Given the description of an element on the screen output the (x, y) to click on. 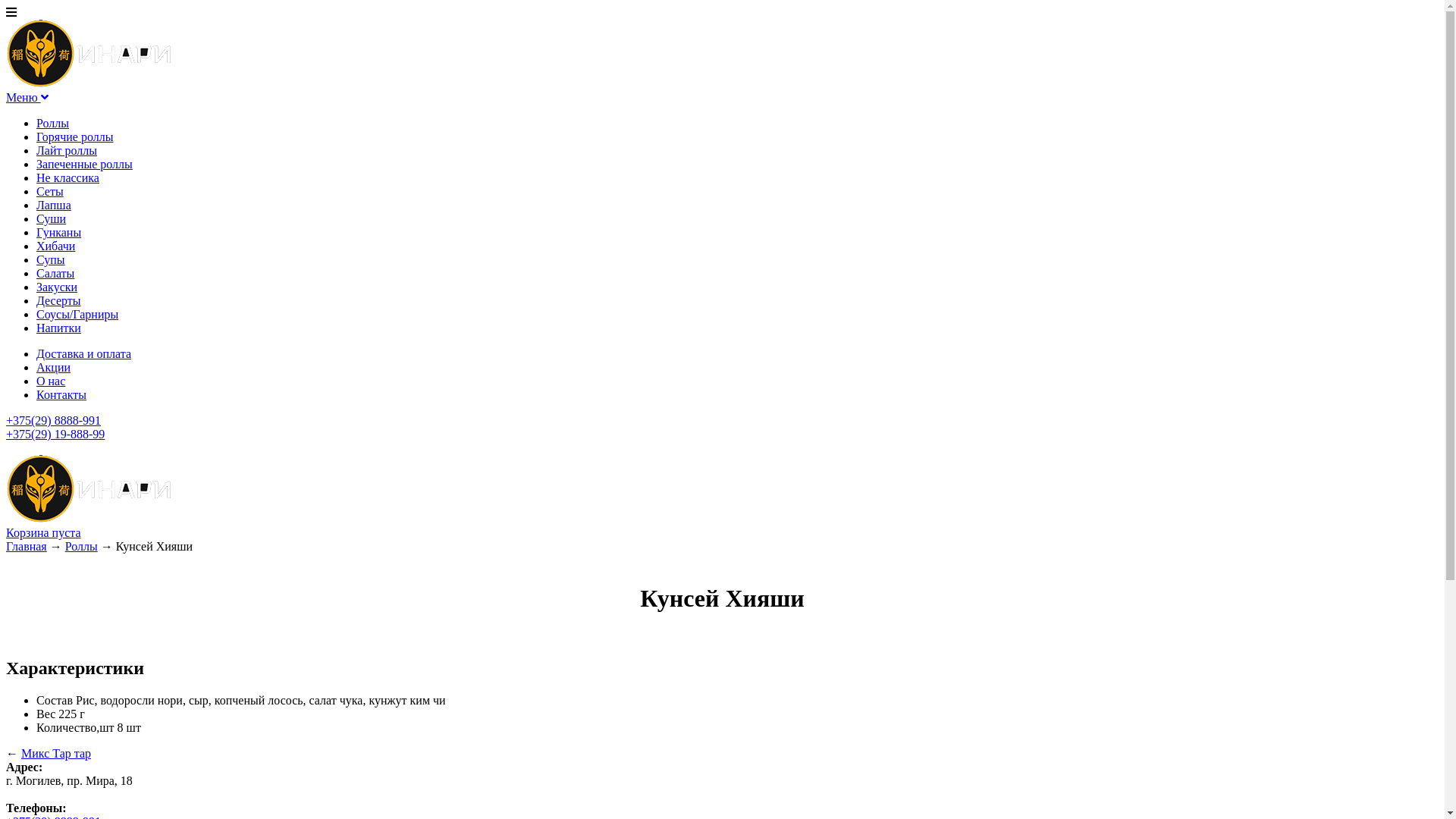
+375(29) 19-888-99 Element type: text (55, 433)
+375(29) 8888-991 Element type: text (53, 420)
